Given the description of an element on the screen output the (x, y) to click on. 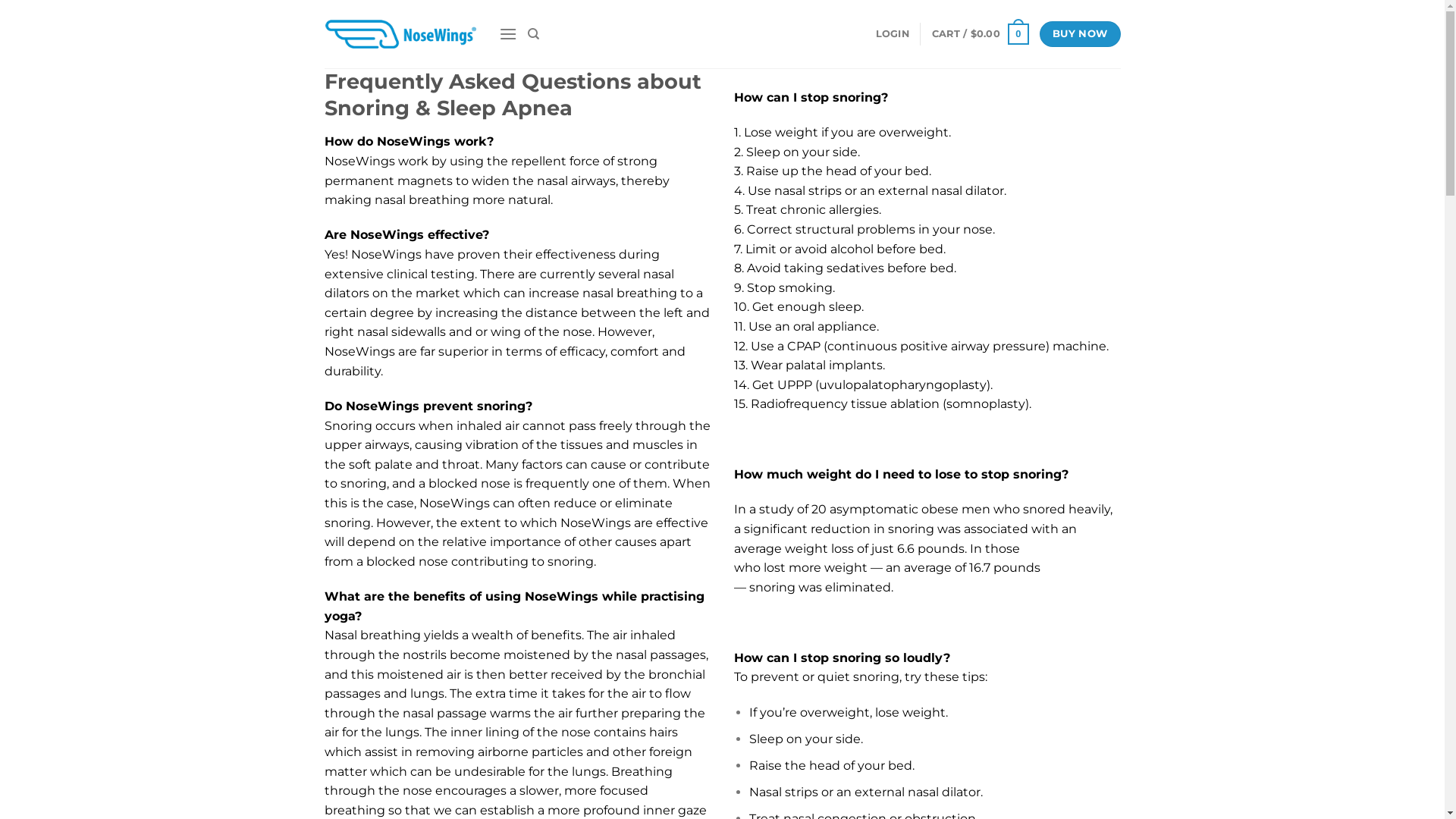
LOGIN Element type: text (892, 33)
CART / $0.00
0 Element type: text (980, 33)
NoseWings - Breathe Better, Sleep Better, Live Better Element type: hover (400, 33)
BUY NOW Element type: text (1079, 34)
